Given the description of an element on the screen output the (x, y) to click on. 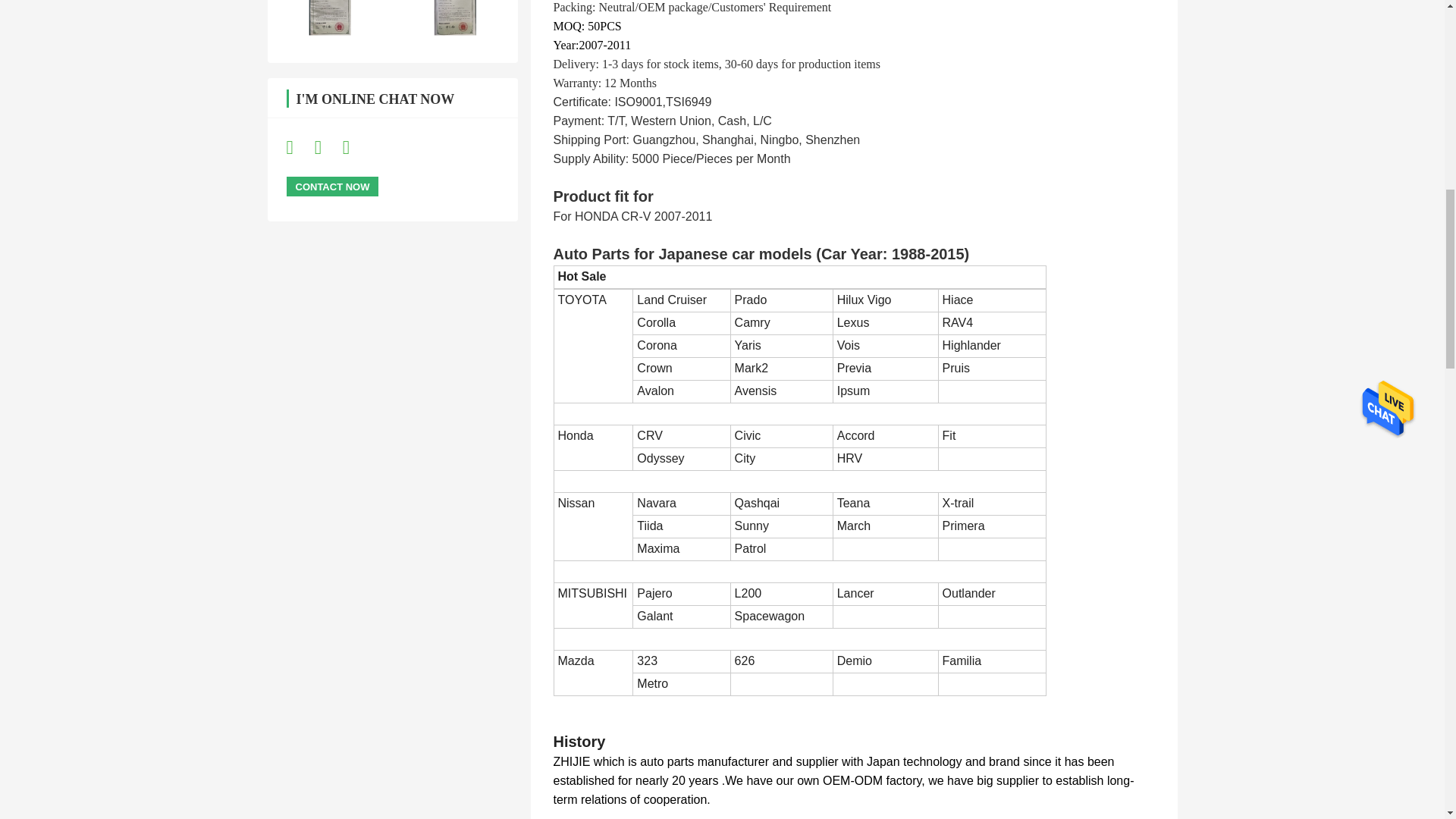
Contact Now (332, 186)
